Given the description of an element on the screen output the (x, y) to click on. 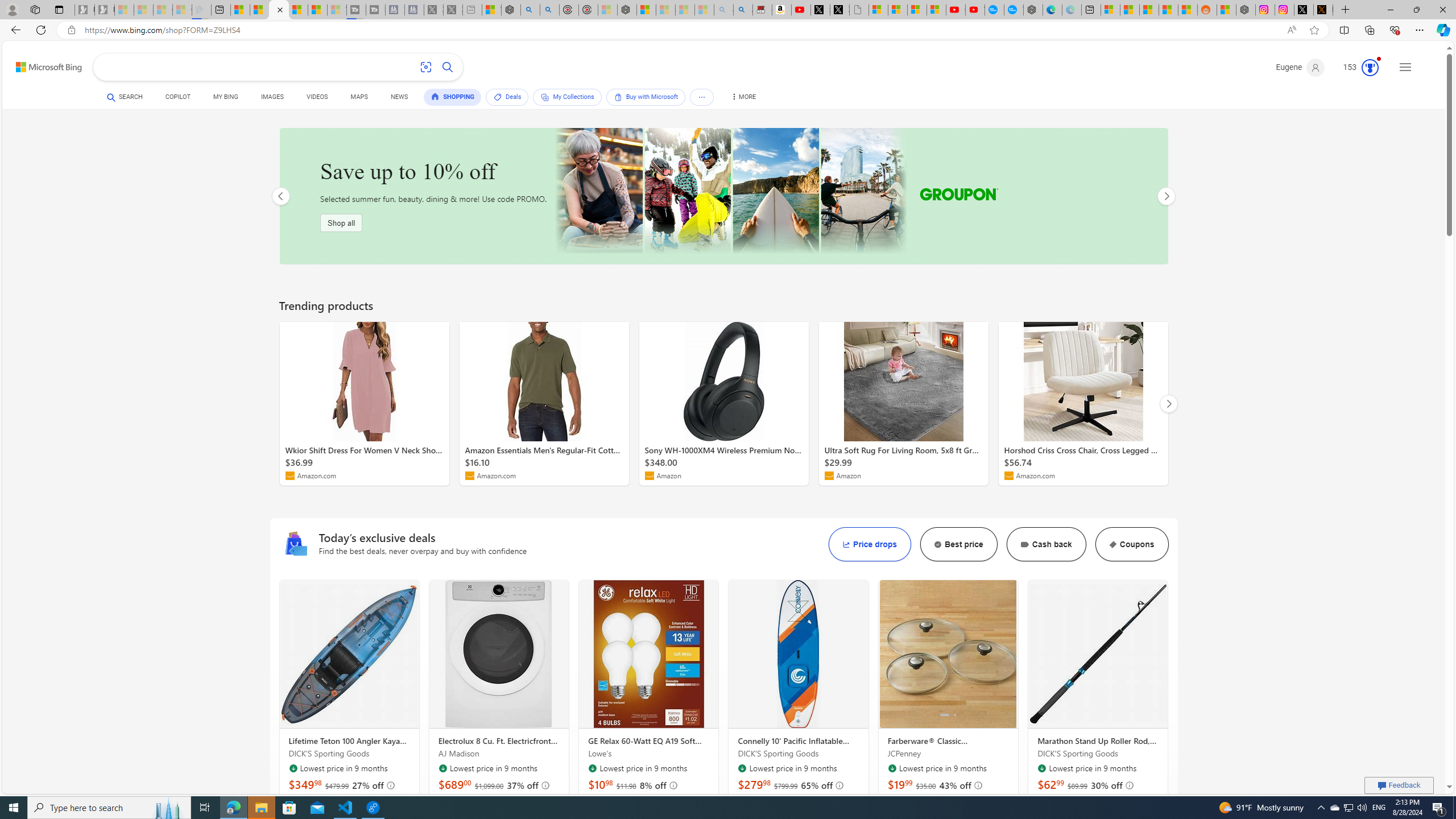
MAPS (358, 96)
View site information (70, 29)
Nordace - Nordace has arrived Hong Kong (1033, 9)
help.x.com | 524: A timeout occurred (1323, 9)
Deals (507, 96)
Nordace - Nordace Siena Is Not An Ordinary Backpack (627, 9)
sh-button-icon Coupons (1131, 544)
Copilot (Ctrl+Shift+.) (1442, 29)
Close (1442, 9)
App bar (728, 29)
New Tab (1346, 9)
Eugene (1299, 67)
